Given the description of an element on the screen output the (x, y) to click on. 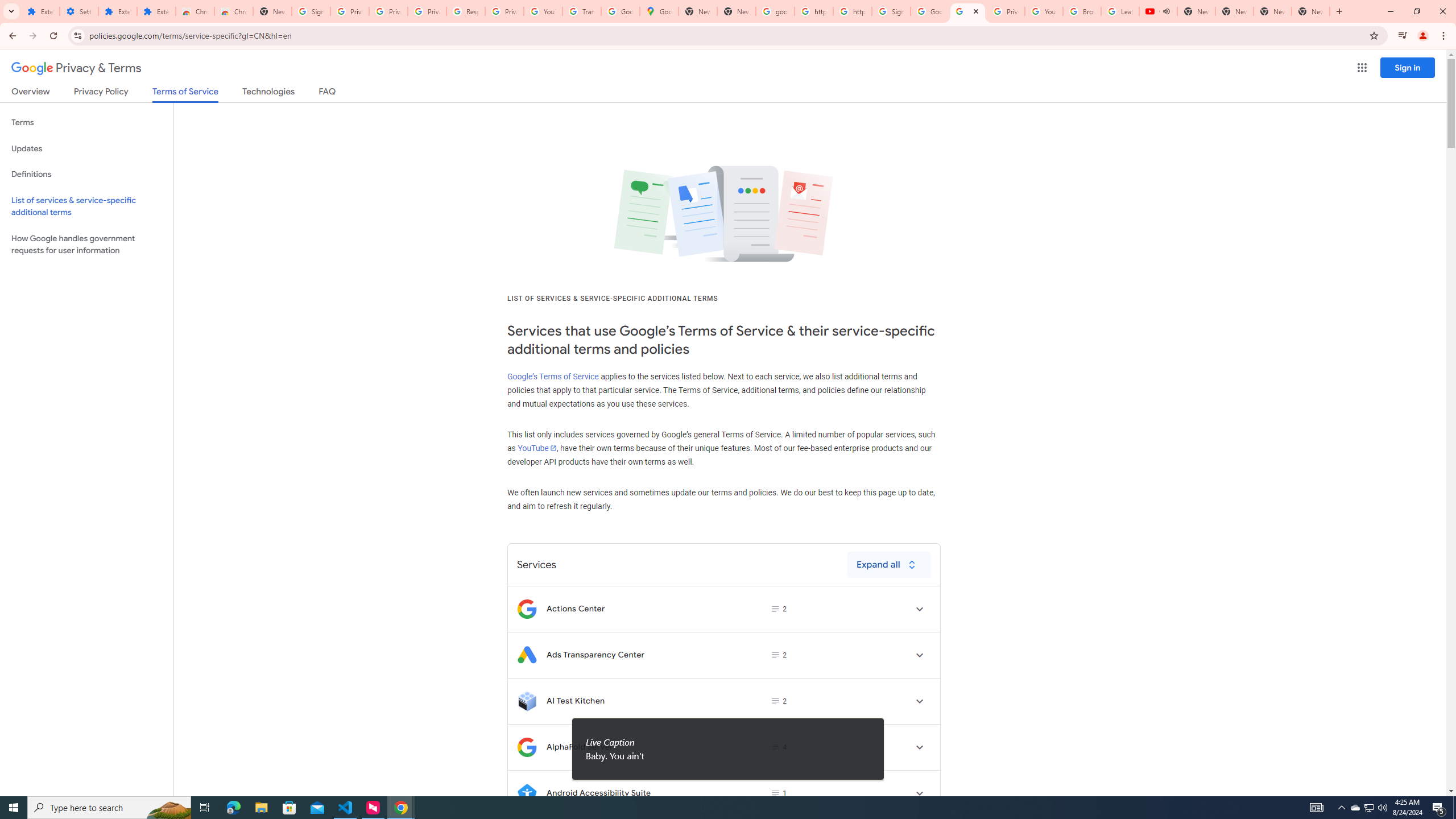
https://scholar.google.com/ (813, 11)
Logo for Actions Center (526, 608)
New Tab (272, 11)
